Given the description of an element on the screen output the (x, y) to click on. 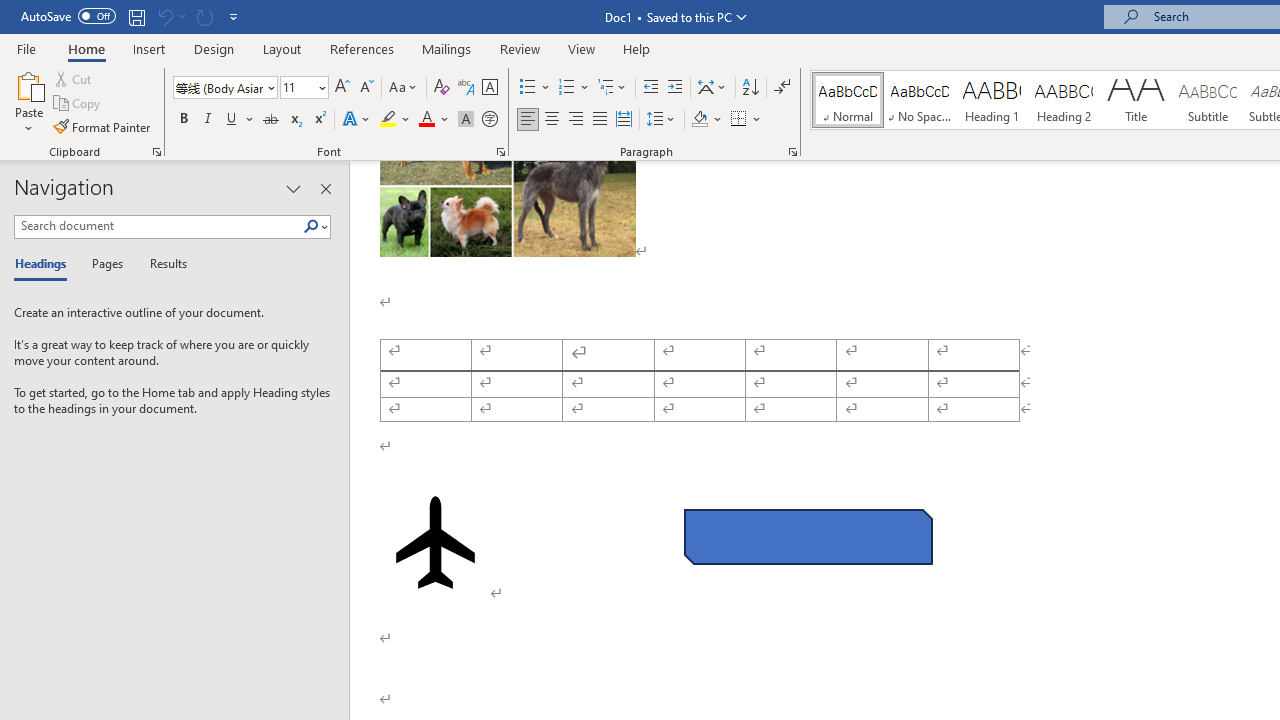
Can't Undo (170, 15)
